Given the description of an element on the screen output the (x, y) to click on. 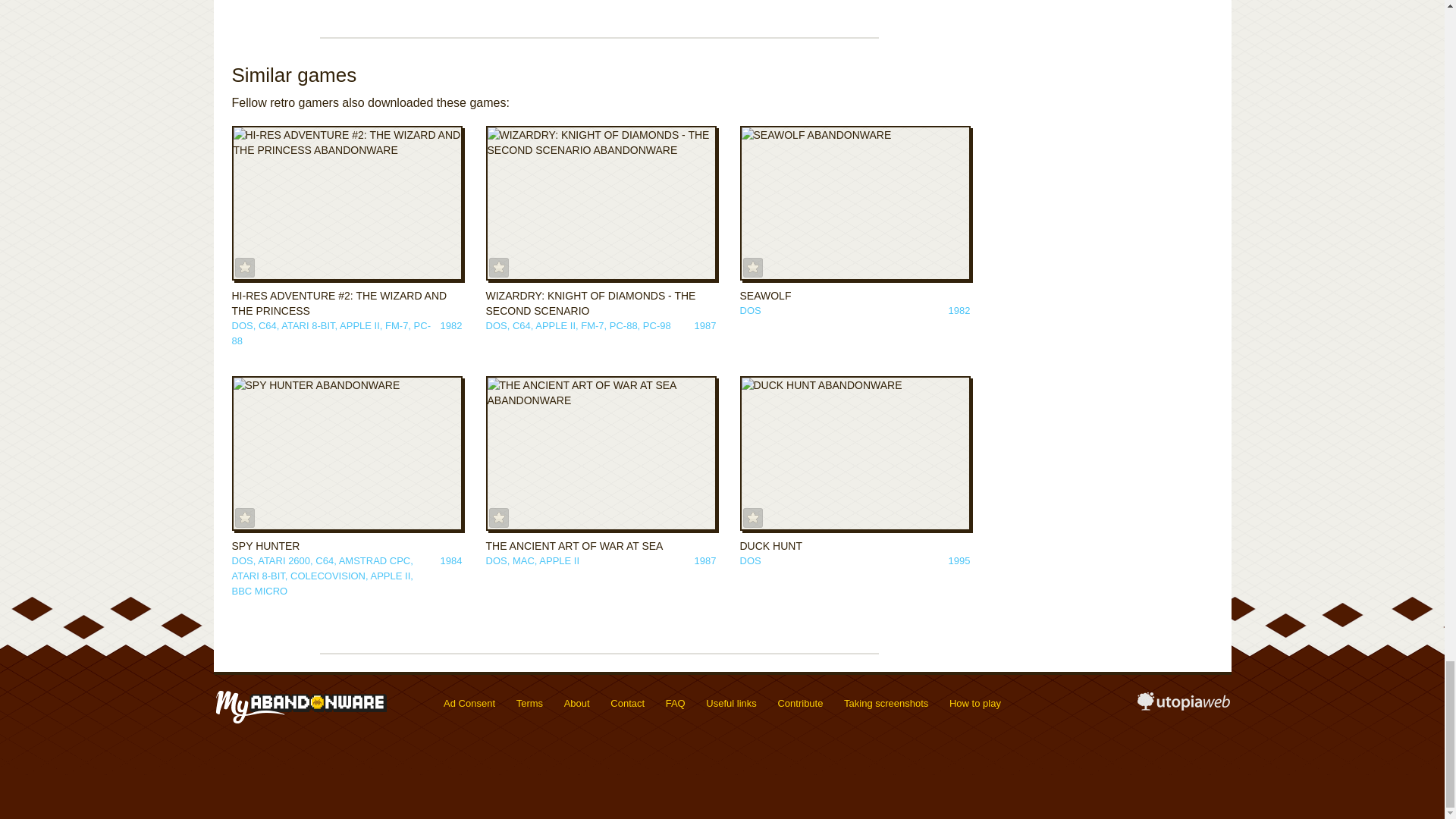
Visit utopiaweb website (1183, 706)
